Given the description of an element on the screen output the (x, y) to click on. 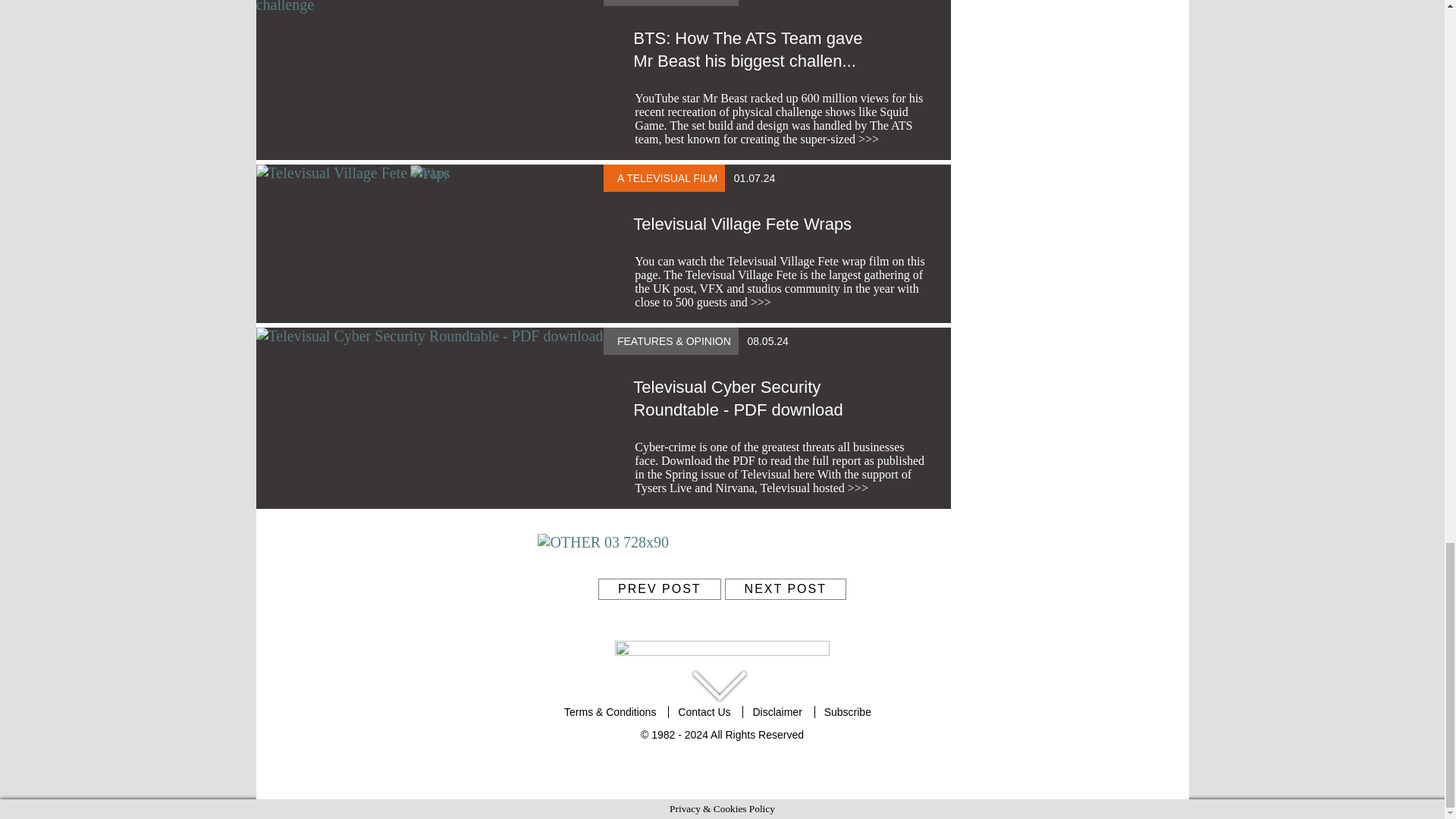
televisual-logo (721, 653)
